Given the description of an element on the screen output the (x, y) to click on. 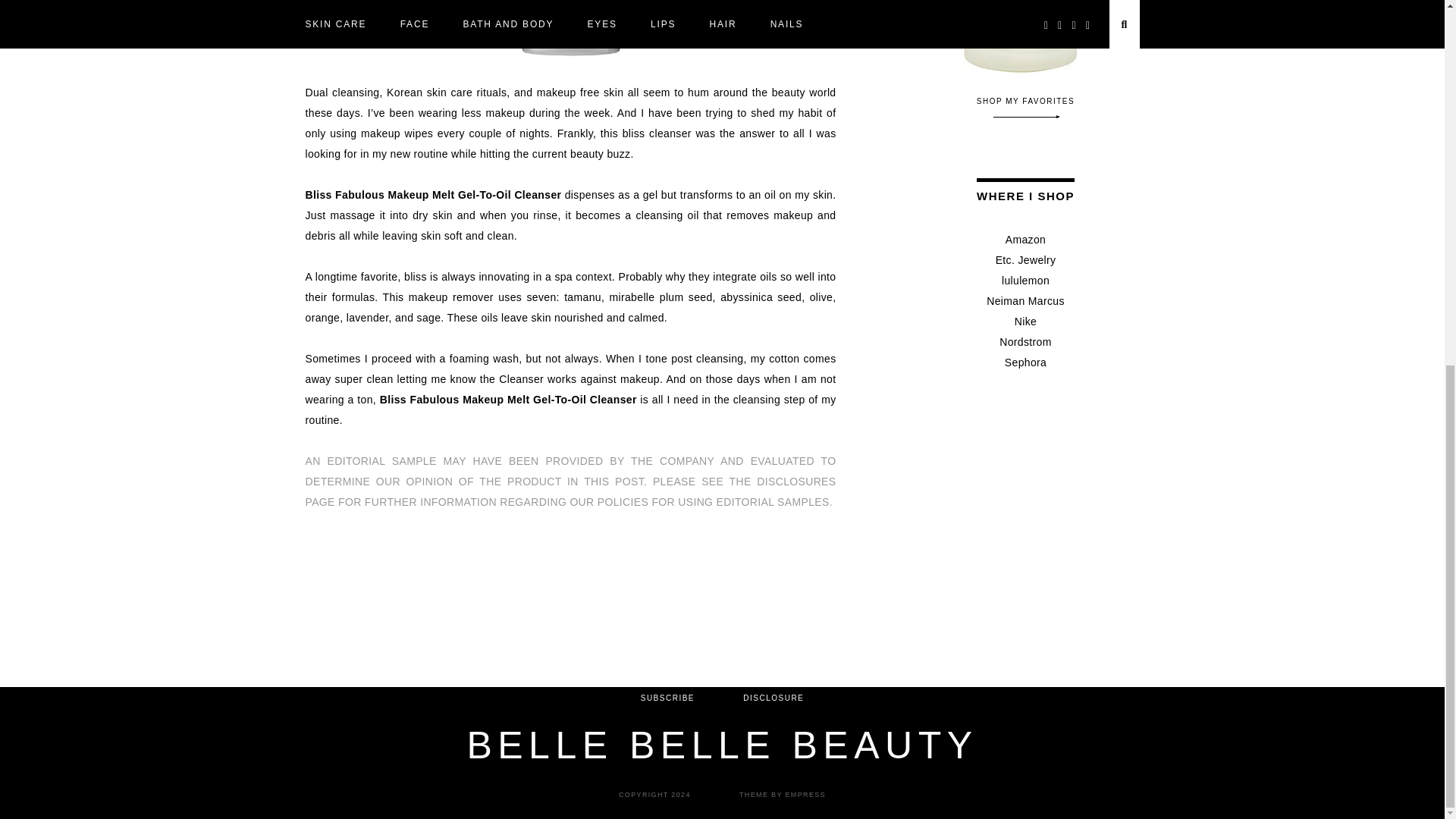
SHOP MY FAVORITES (1026, 107)
Bliss Fabulous Makeup Melt Gel-To-Oil Cleanser (432, 194)
Amazon (1025, 239)
lululemon (1025, 280)
THEME BY EMPRESS (782, 794)
Nike (1025, 321)
Neiman Marcus (1025, 300)
SUBSCRIBE (667, 697)
Sephora (1025, 362)
DISCLOSURE (772, 697)
